Given the description of an element on the screen output the (x, y) to click on. 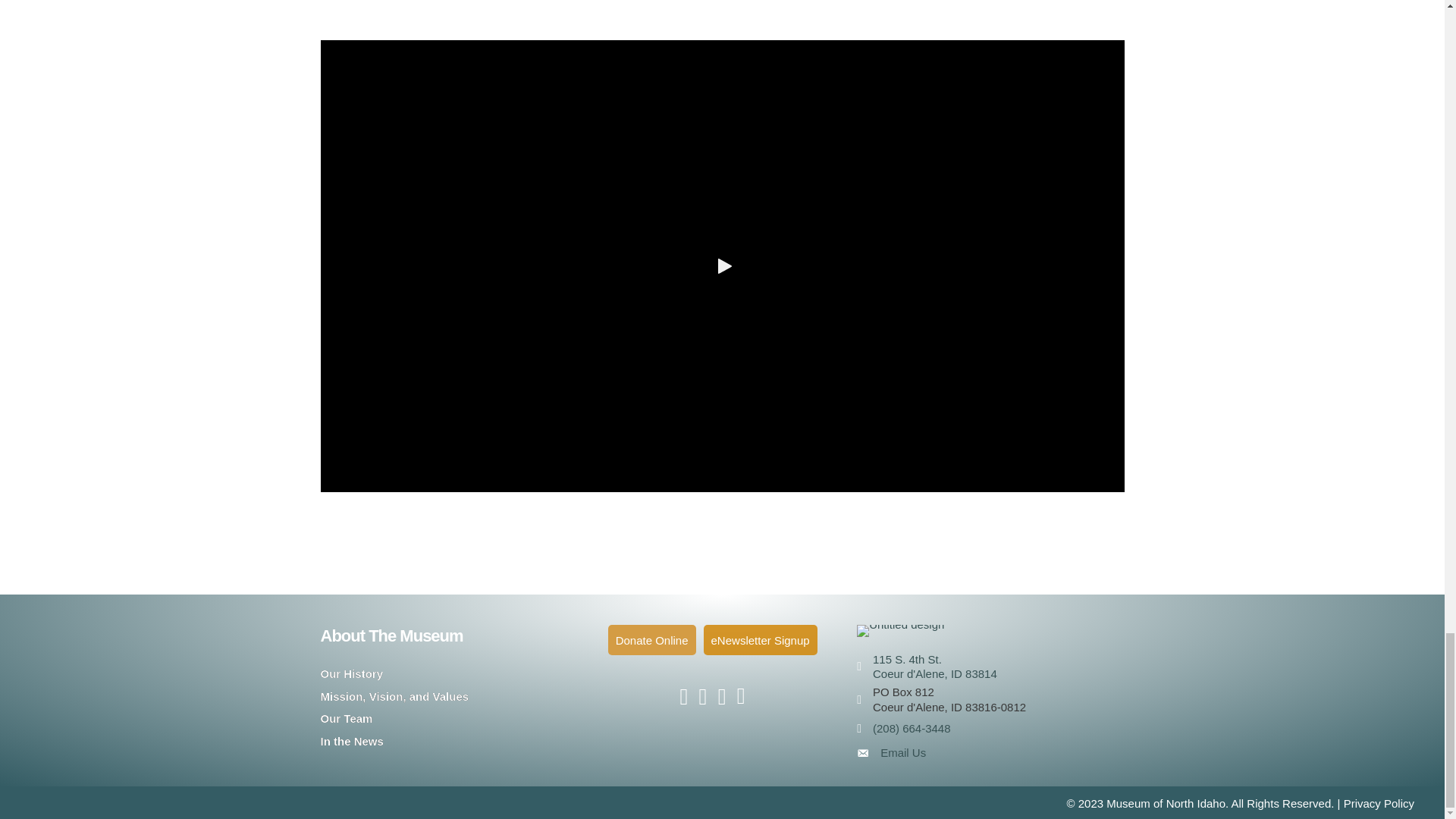
Mission, Vision, and Values (394, 696)
Our History (351, 673)
Our Team (346, 717)
Untitled design (900, 630)
